Given the description of an element on the screen output the (x, y) to click on. 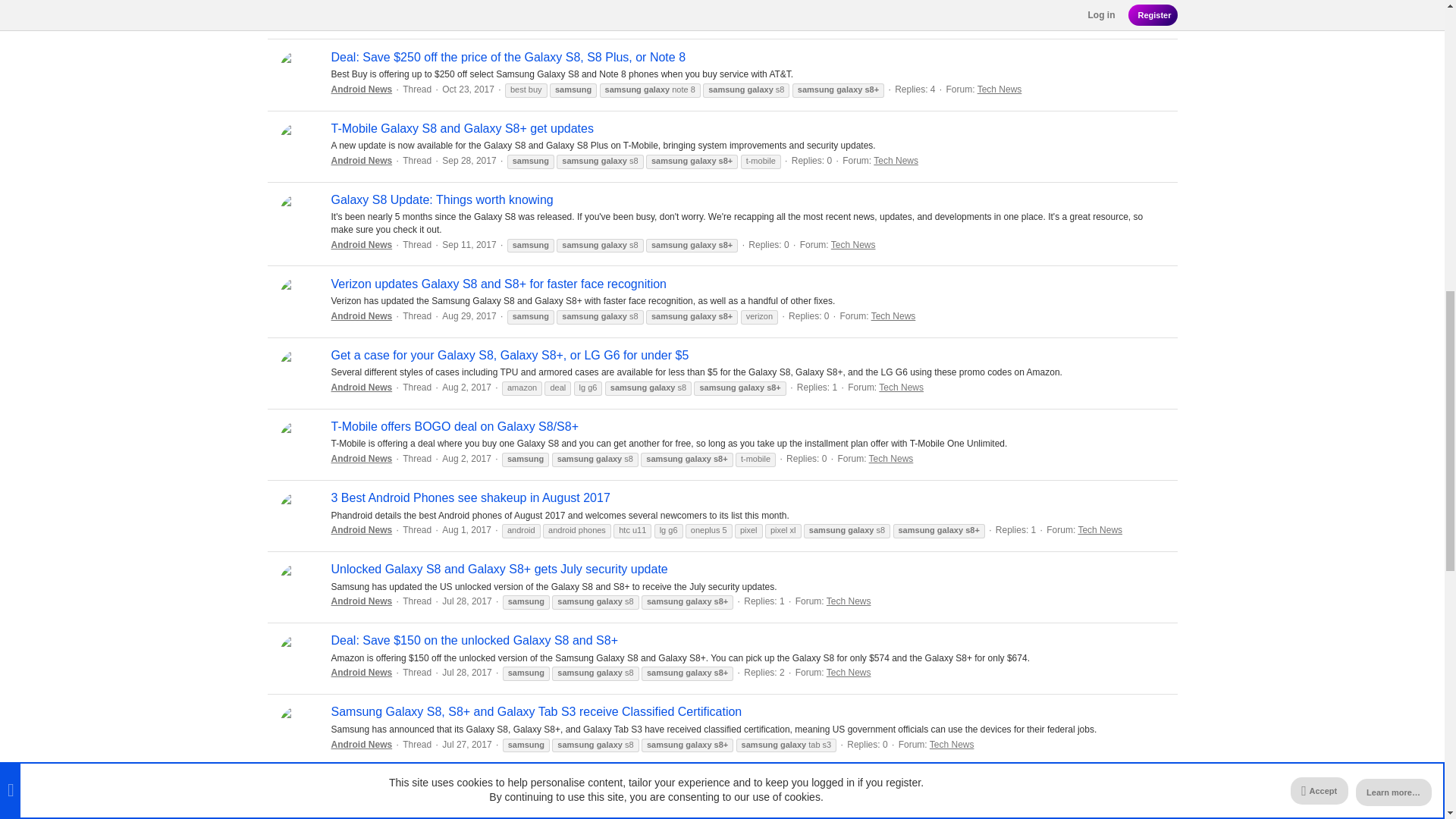
Oct 23, 2017 at 1:43 PM (468, 89)
Sep 28, 2017 at 1:33 PM (469, 160)
Oct 23, 2017 at 3:53 PM (468, 5)
